Given the description of an element on the screen output the (x, y) to click on. 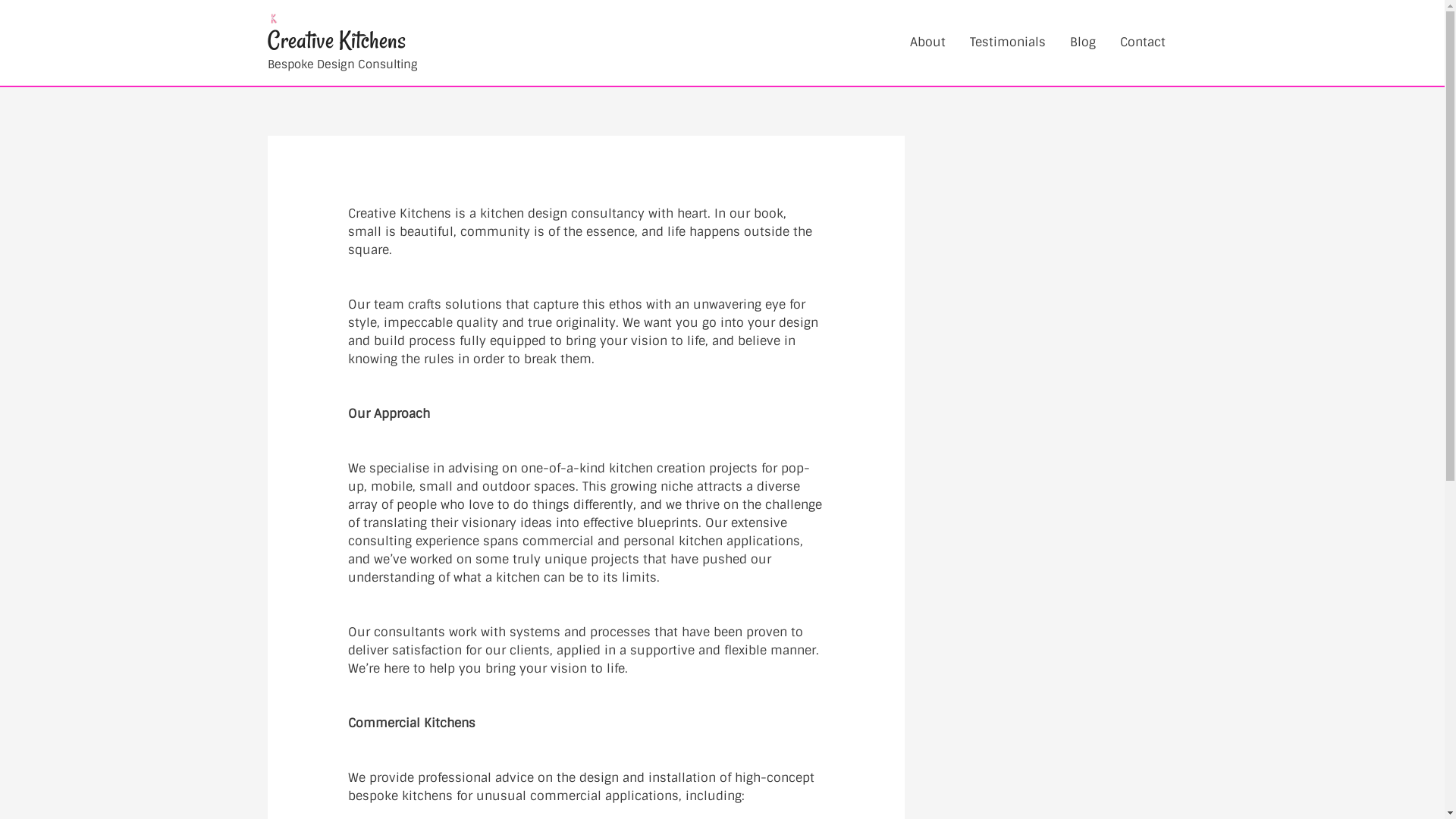
Contact Element type: text (1141, 42)
Testimonials Element type: text (1007, 42)
Blog Element type: text (1082, 42)
About Element type: text (927, 42)
Creative Kitchens Element type: text (335, 40)
